Given the description of an element on the screen output the (x, y) to click on. 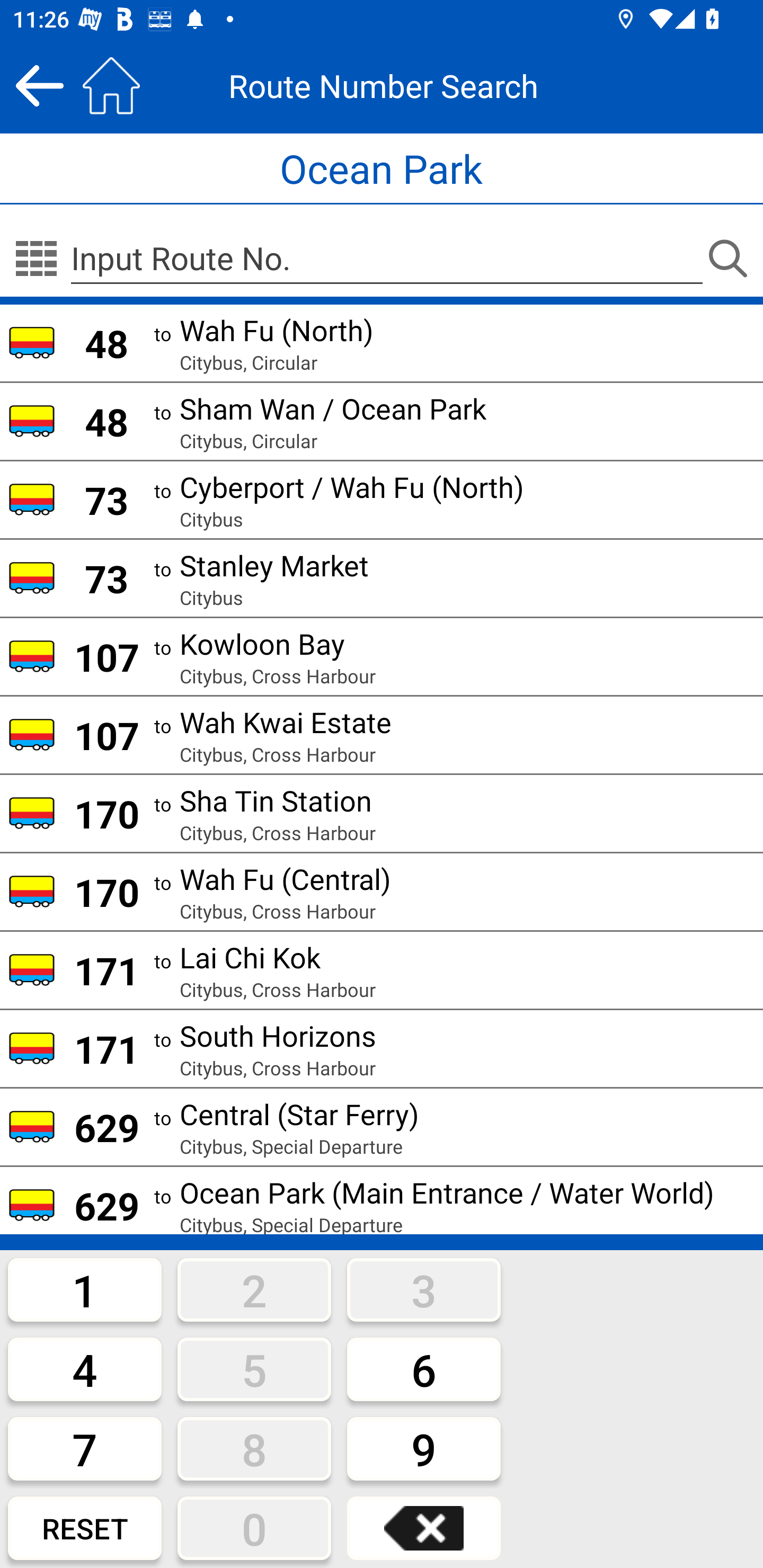
Jump to home page (111, 85)
Back (39, 85)
no (36, 258)
1 (84, 1289)
2 (254, 1289)
3 (423, 1289)
4 (84, 1369)
5 (254, 1369)
6 (423, 1369)
7 (84, 1448)
8 (254, 1448)
9 (423, 1448)
RESET (84, 1527)
0 (254, 1527)
